Given the description of an element on the screen output the (x, y) to click on. 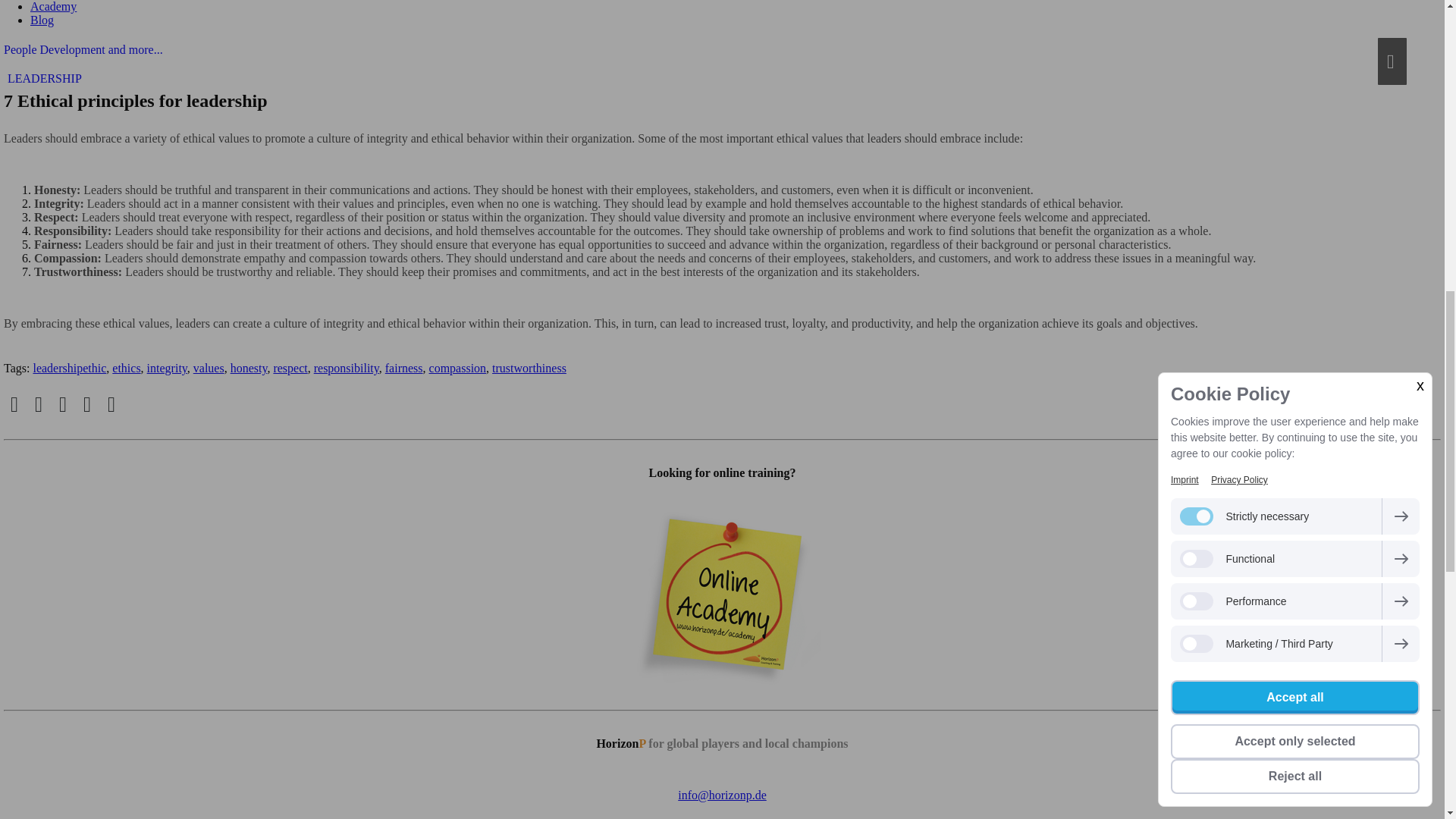
Facebook (14, 404)
LinkedIn (87, 404)
Twitter (38, 404)
Email (63, 404)
Xing (111, 404)
